Given the description of an element on the screen output the (x, y) to click on. 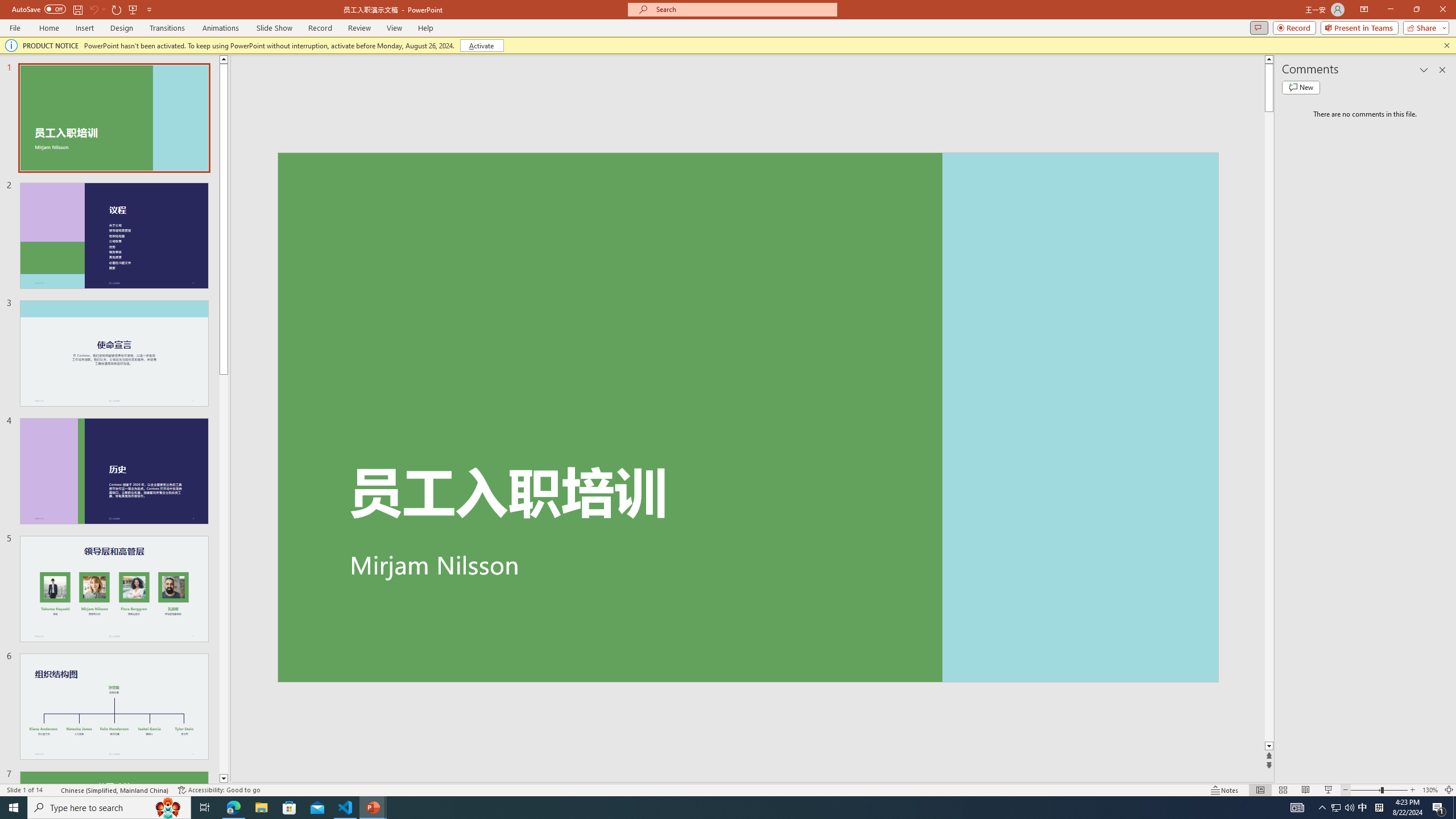
Activate (481, 45)
New comment (1300, 87)
Zoom 130% (1430, 790)
